Given the description of an element on the screen output the (x, y) to click on. 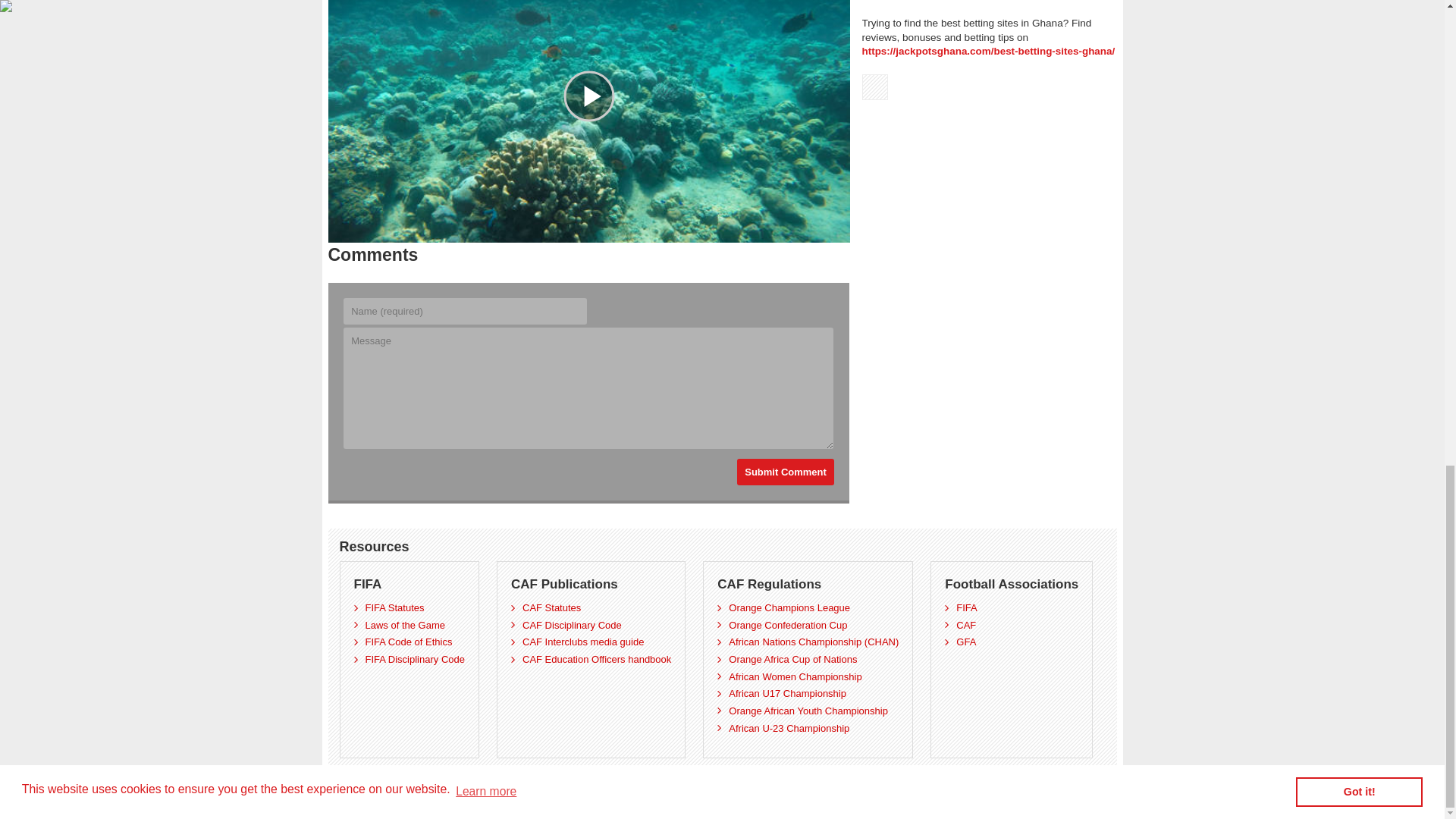
Submit Comment (785, 471)
